Given the description of an element on the screen output the (x, y) to click on. 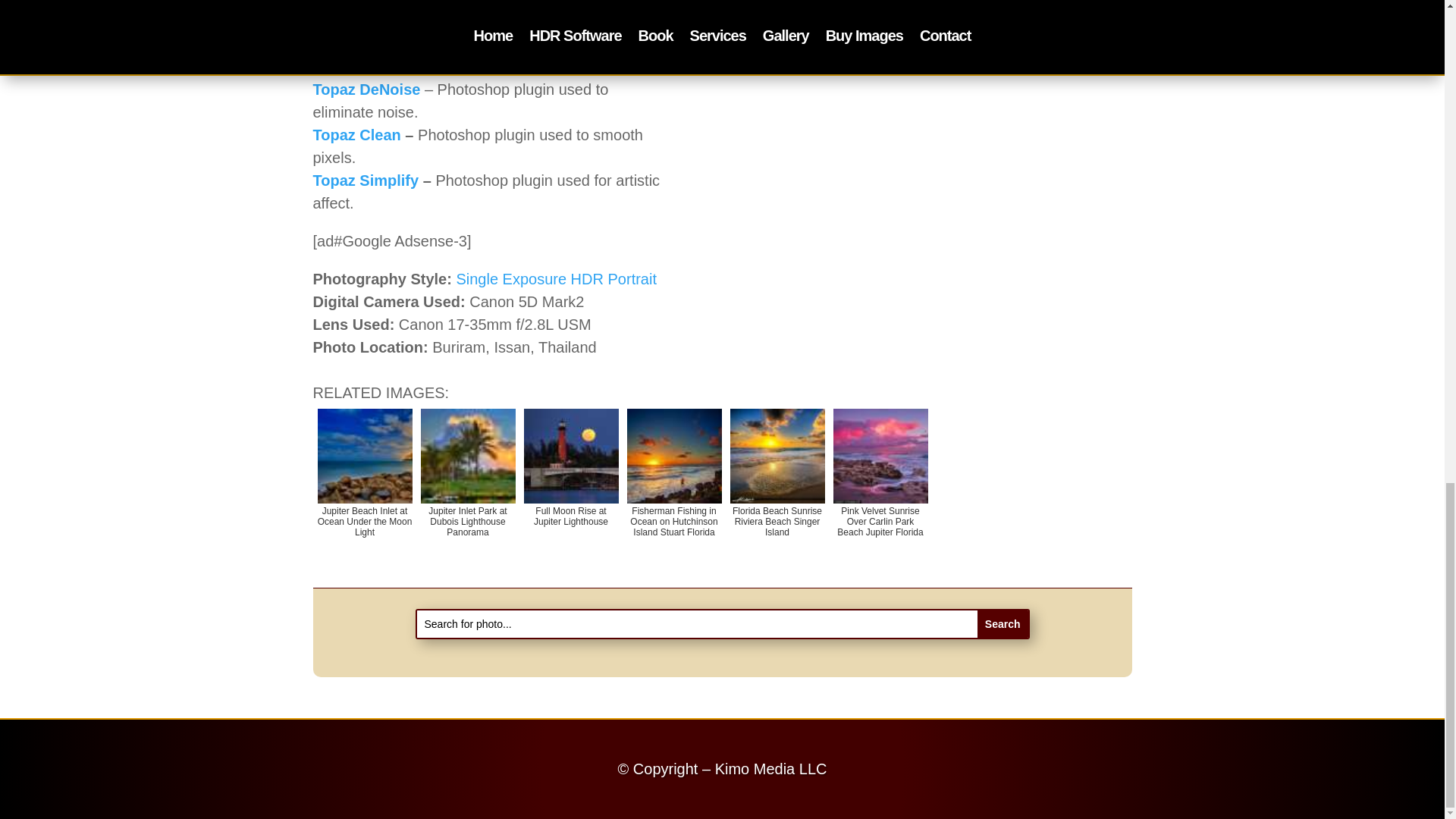
Search (1001, 624)
Topaz Adjust (359, 44)
Single Exposure HDR Portrait (555, 279)
Topaz Clean (356, 134)
Topaz Simplify (366, 180)
Topaz DeNoise (366, 89)
Search (1001, 624)
Photomatix (353, 3)
Search (1001, 624)
